Given the description of an element on the screen output the (x, y) to click on. 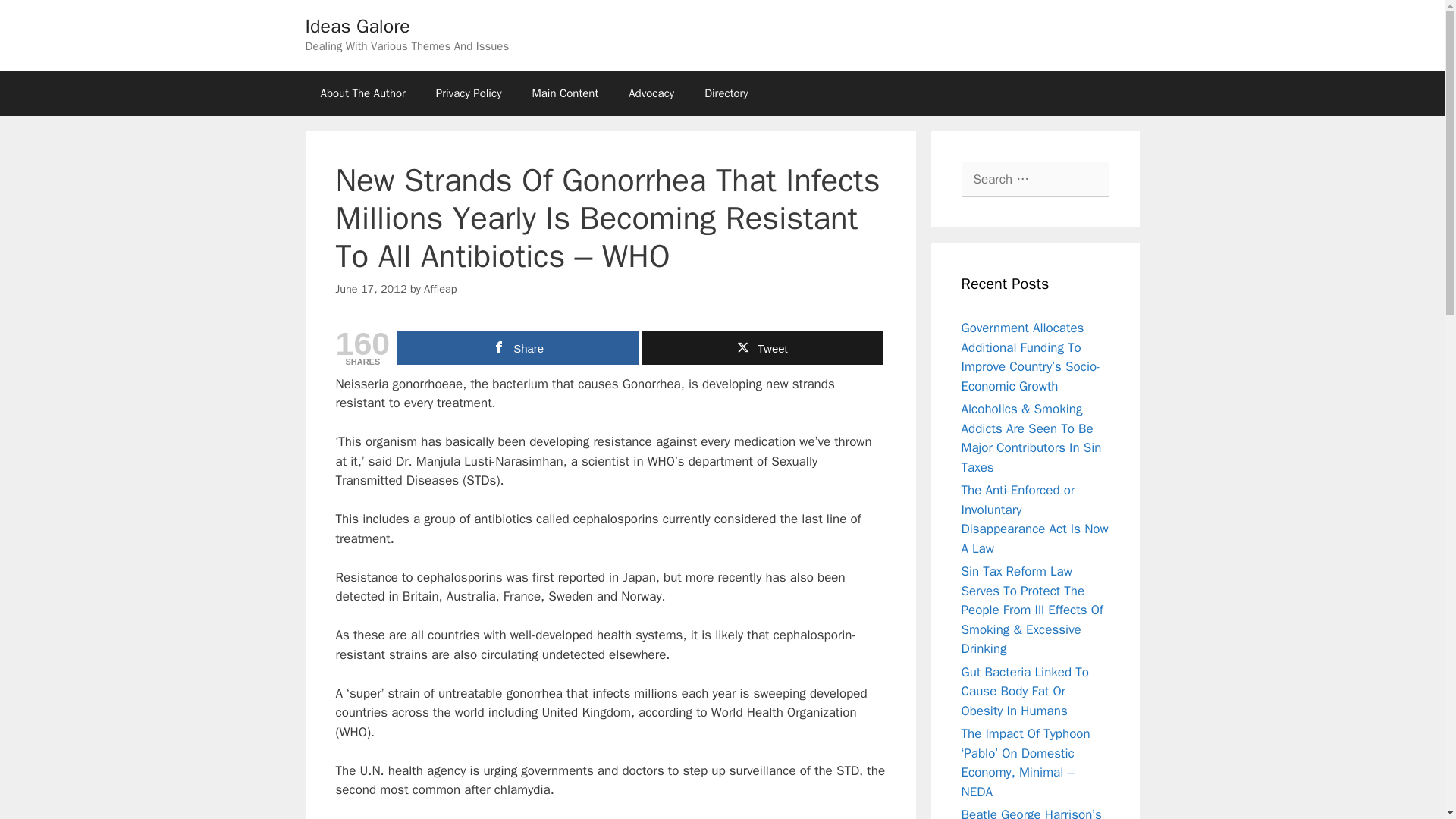
Gut Bacteria Linked To Cause Body Fat Or Obesity In Humans (1024, 691)
Tweet (762, 347)
View all posts by Affleap (440, 288)
Advocacy (650, 92)
Main Content (564, 92)
Directory (725, 92)
Affleap (440, 288)
Search for: (1034, 178)
About The Author (362, 92)
